Given the description of an element on the screen output the (x, y) to click on. 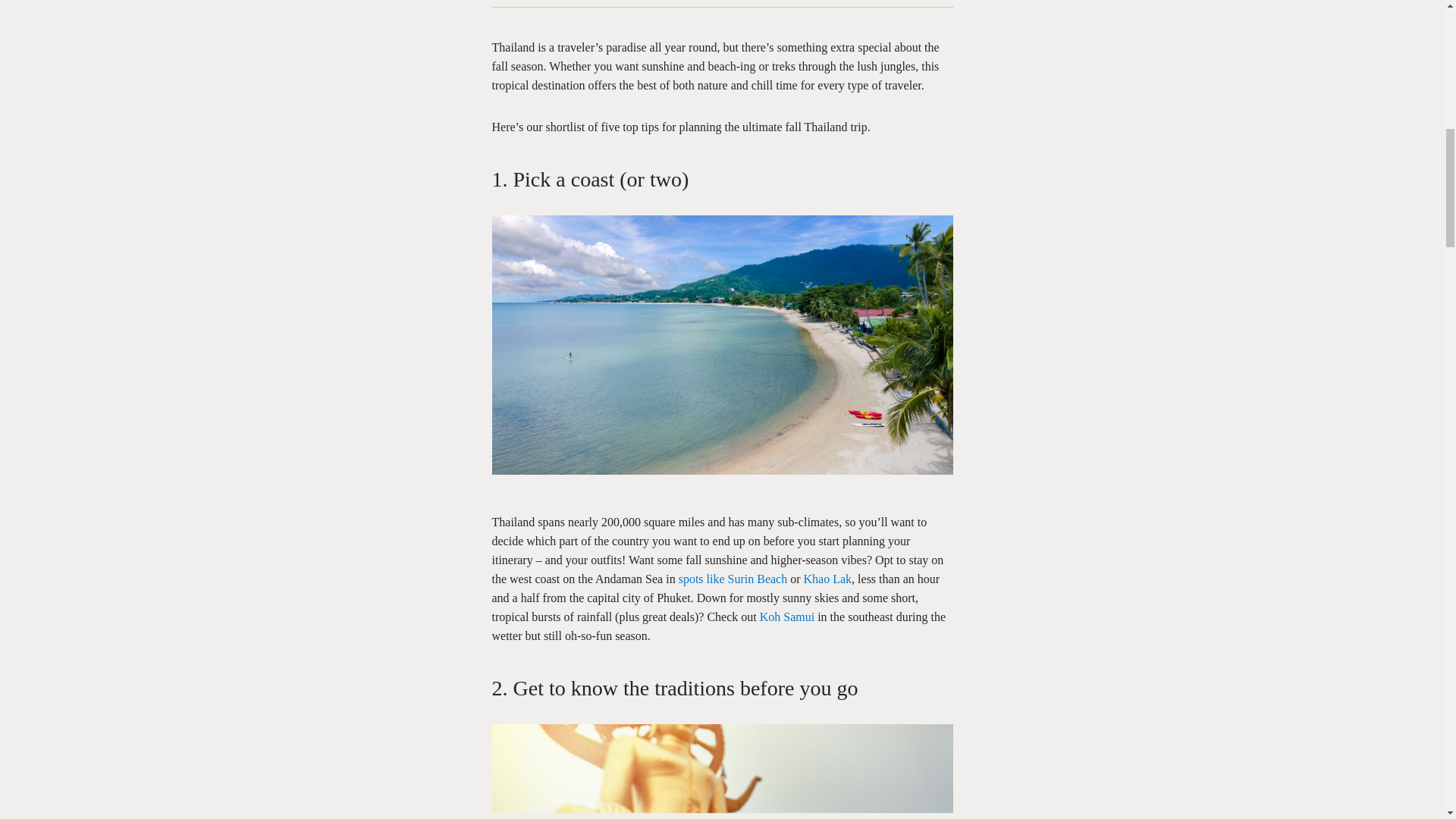
spots like Surin Beach (732, 578)
Khao Lak (827, 578)
Koh Samui (786, 616)
